Given the description of an element on the screen output the (x, y) to click on. 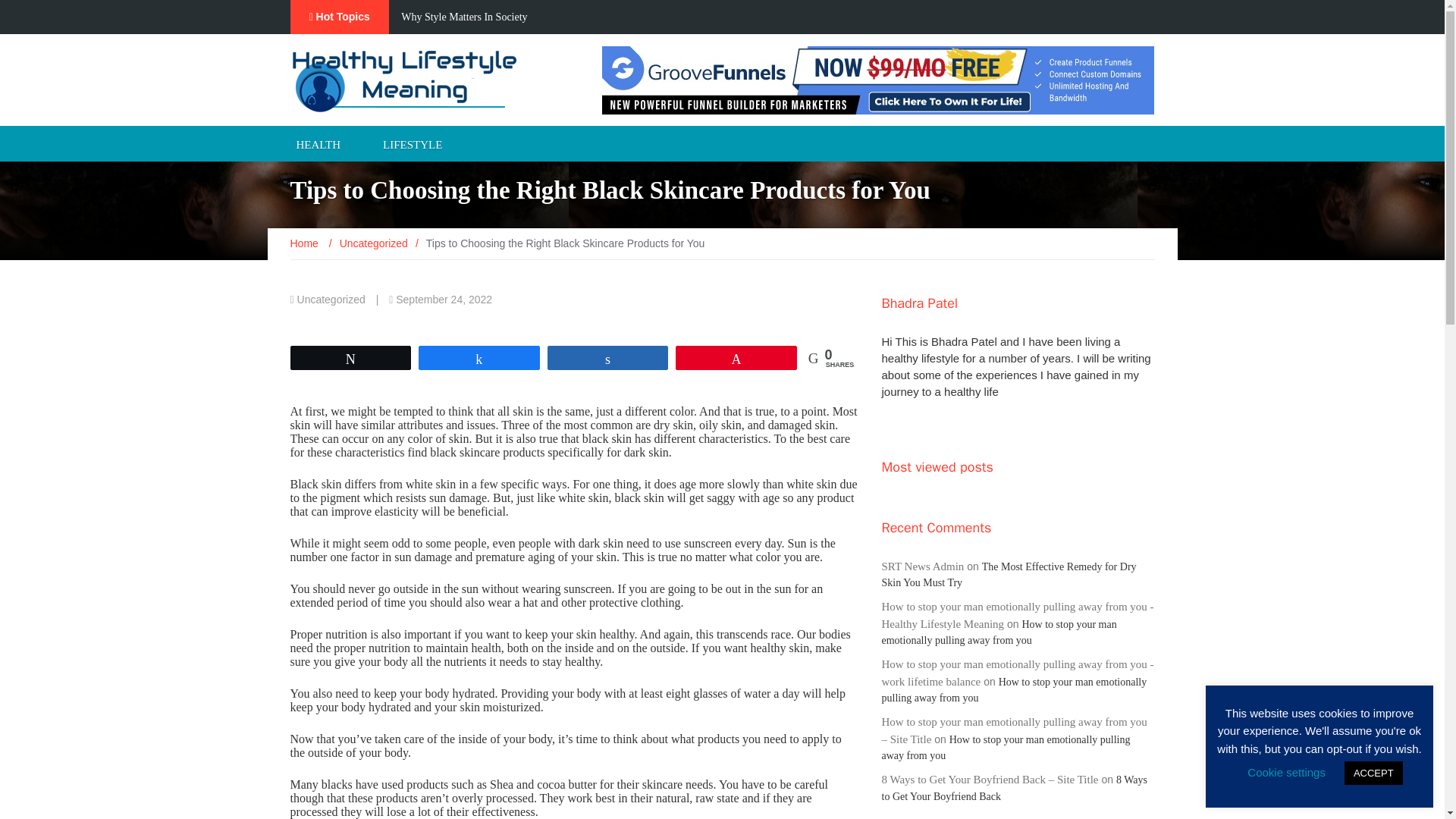
Uncategorized (373, 243)
Home (304, 243)
LIFESTYLE (412, 143)
Uncategorized (331, 299)
HEALTH (317, 143)
Why Style Matters In Society (464, 17)
